Given the description of an element on the screen output the (x, y) to click on. 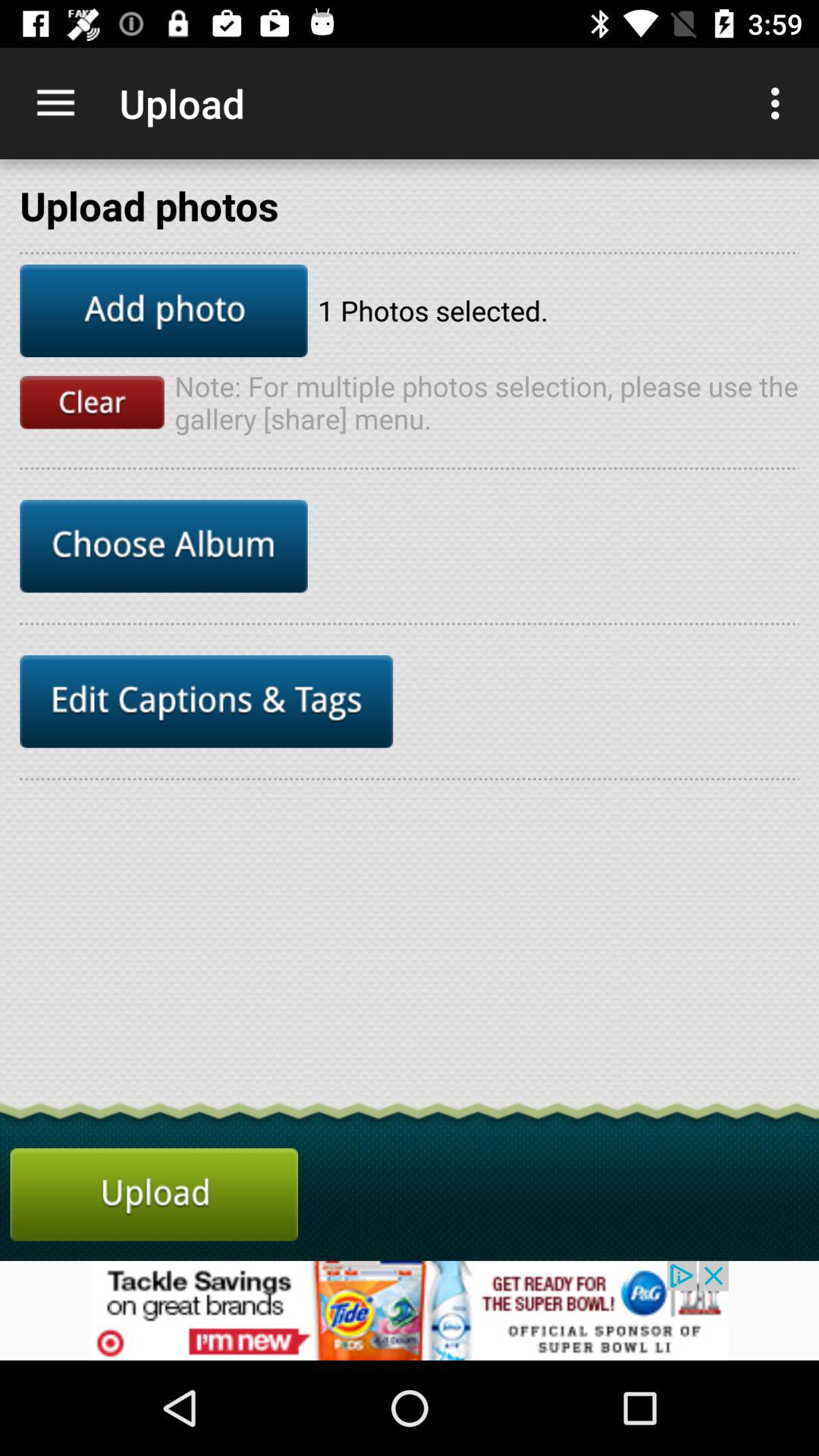
add photo (163, 310)
